Given the description of an element on the screen output the (x, y) to click on. 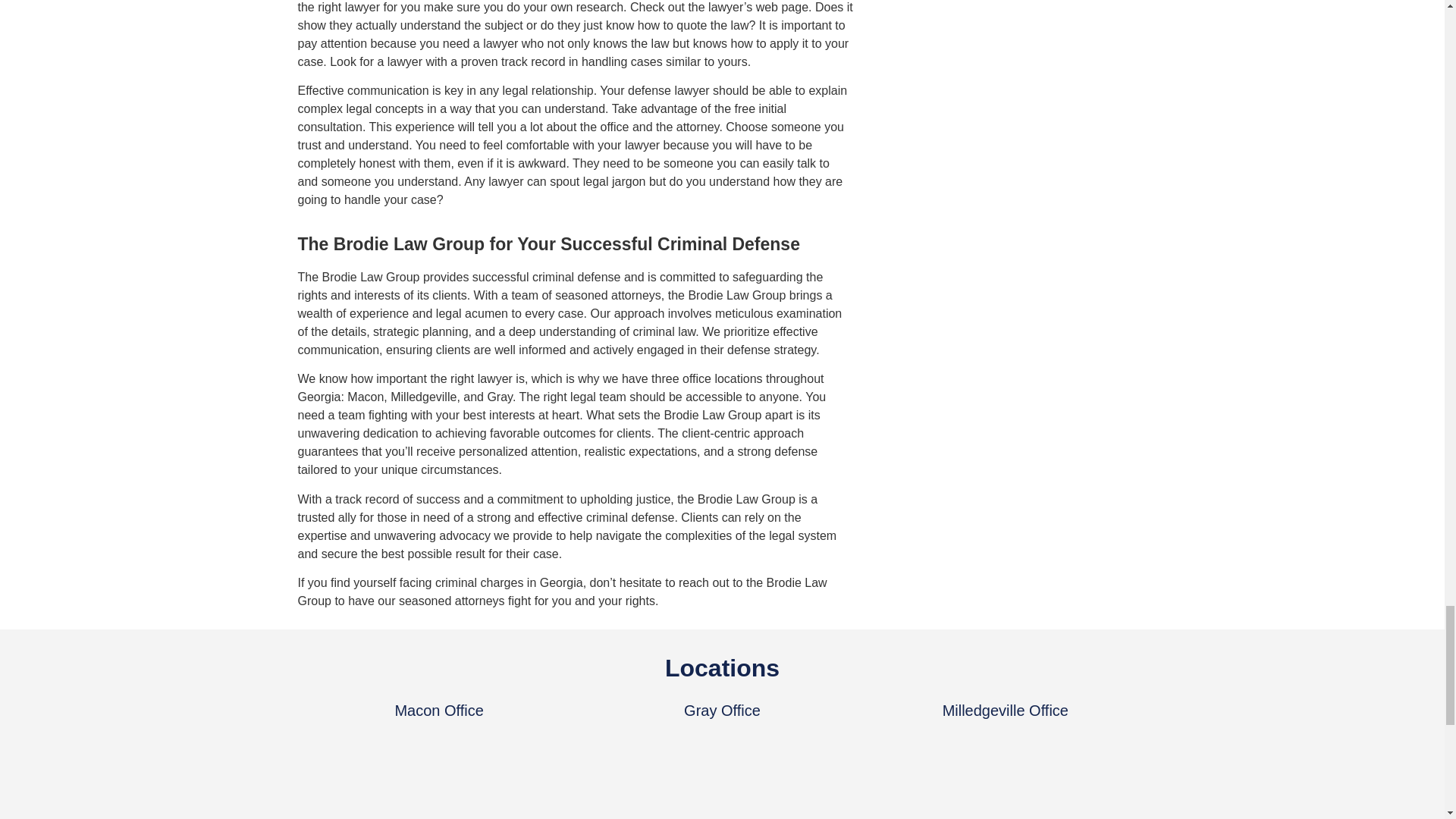
Brodie Law Group, Gray (722, 776)
Brodie Law Group Macon (438, 776)
Brodie law group Milledgeville (1004, 776)
